Given the description of an element on the screen output the (x, y) to click on. 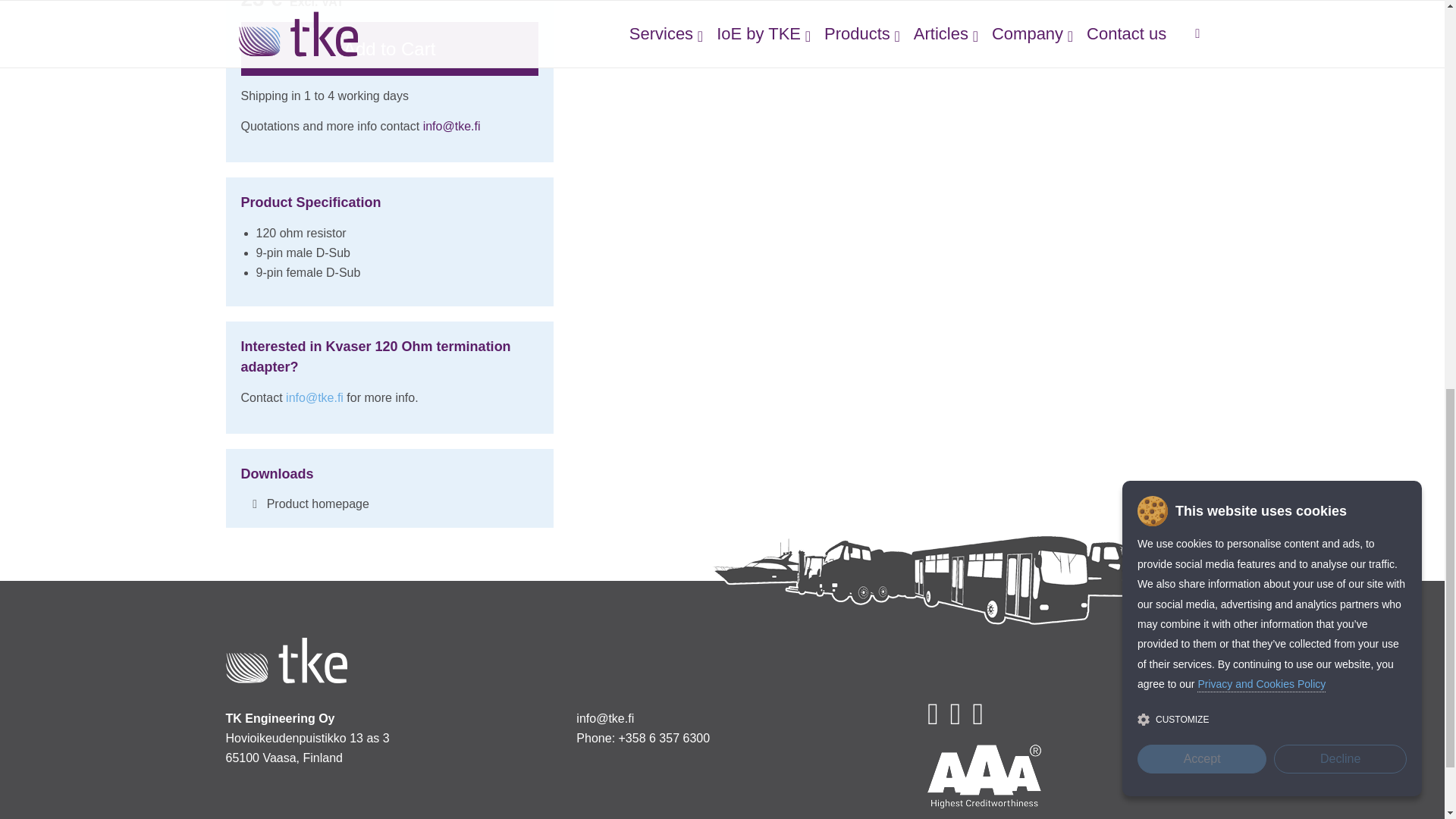
Add to Cart (389, 49)
Product homepage (317, 503)
Product homepage (317, 503)
Product homepage (254, 503)
Highest creditworthiness (984, 776)
tke-logo-white (286, 660)
